Given the description of an element on the screen output the (x, y) to click on. 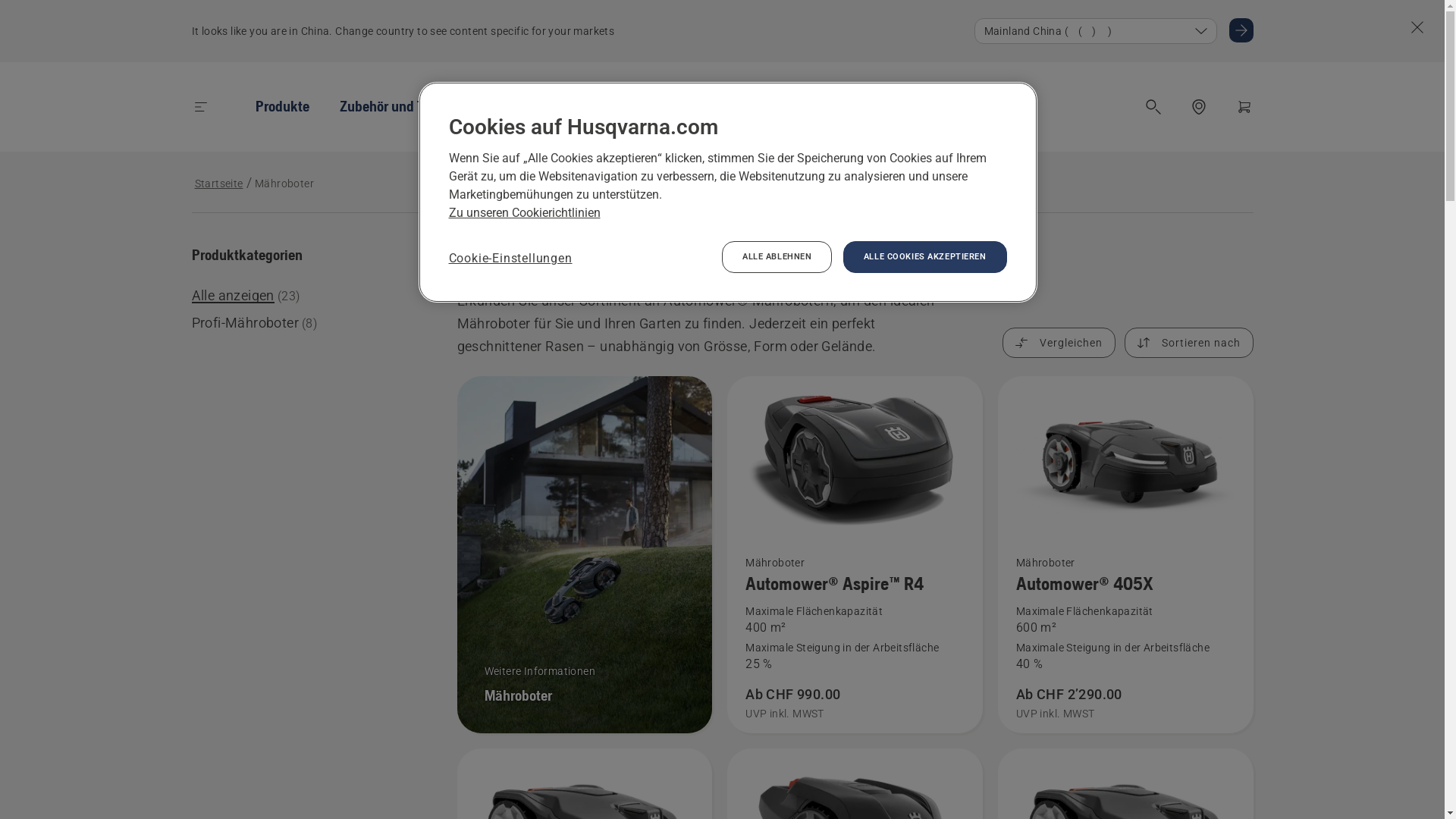
Startseite Element type: text (218, 183)
Alle anzeigen(23) Element type: text (245, 295)
Sortieren nach Element type: text (1187, 342)
Vergleichen Element type: text (1058, 342)
Produkte Element type: text (281, 105)
